Given the description of an element on the screen output the (x, y) to click on. 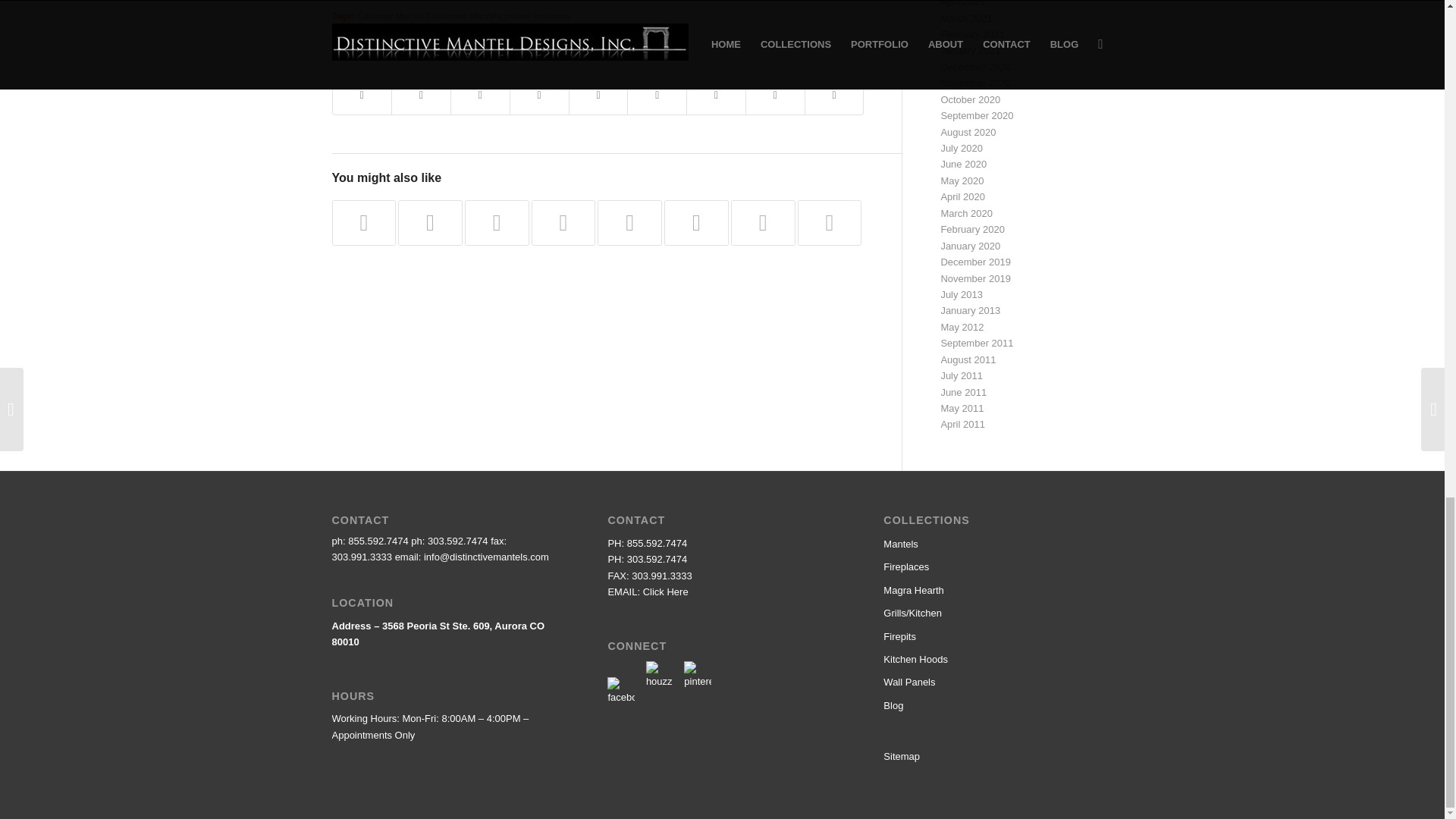
Callaway Mantel (389, 15)
maine fireplaces (537, 15)
Distinctive Mantels (463, 15)
